Given the description of an element on the screen output the (x, y) to click on. 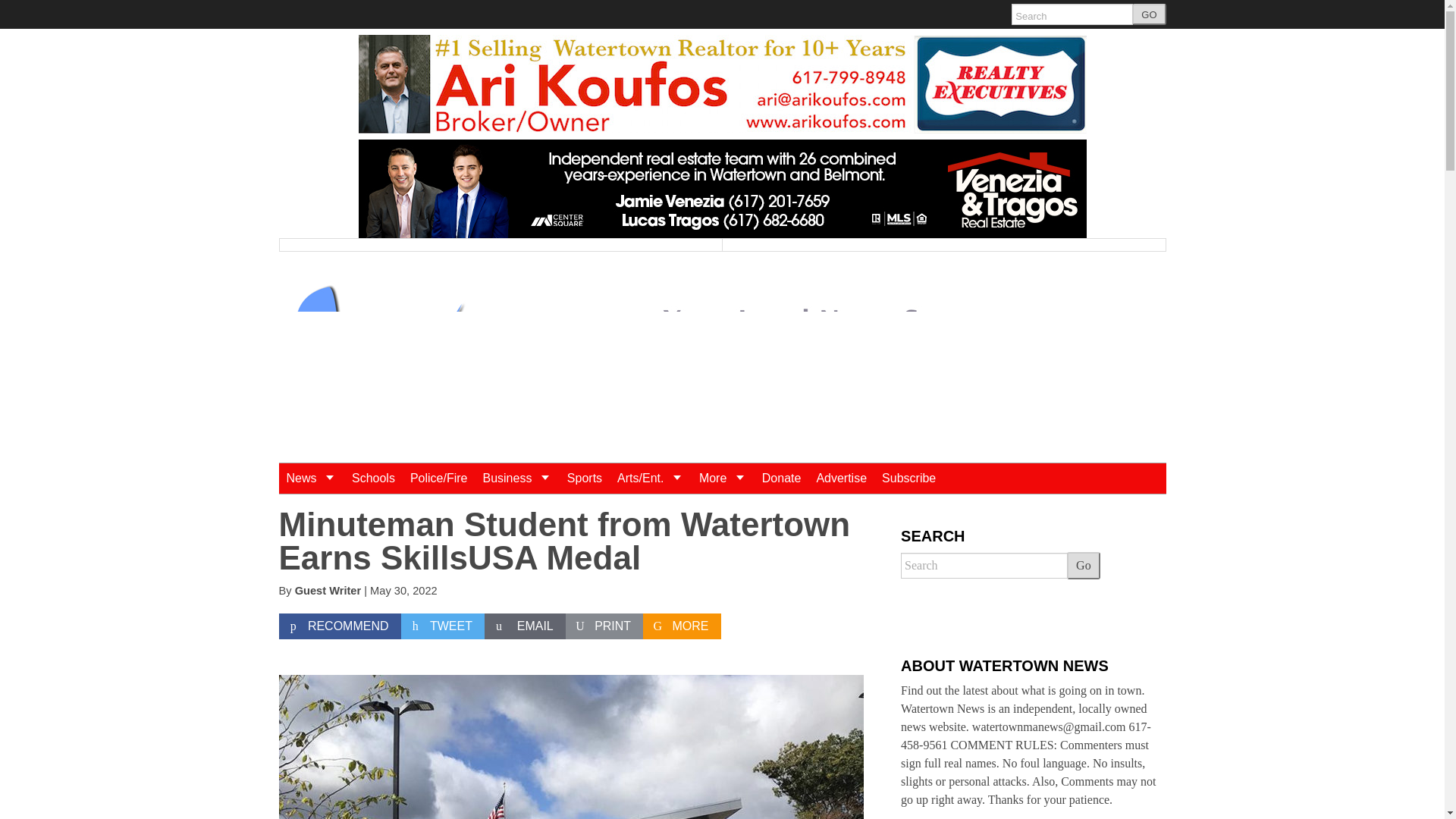
Read All Posts By Guest Writer (328, 590)
Business (516, 478)
Ari Koufos Banner (722, 84)
GO (1149, 14)
News (311, 478)
Print this article (604, 626)
Schools (373, 478)
